Given the description of an element on the screen output the (x, y) to click on. 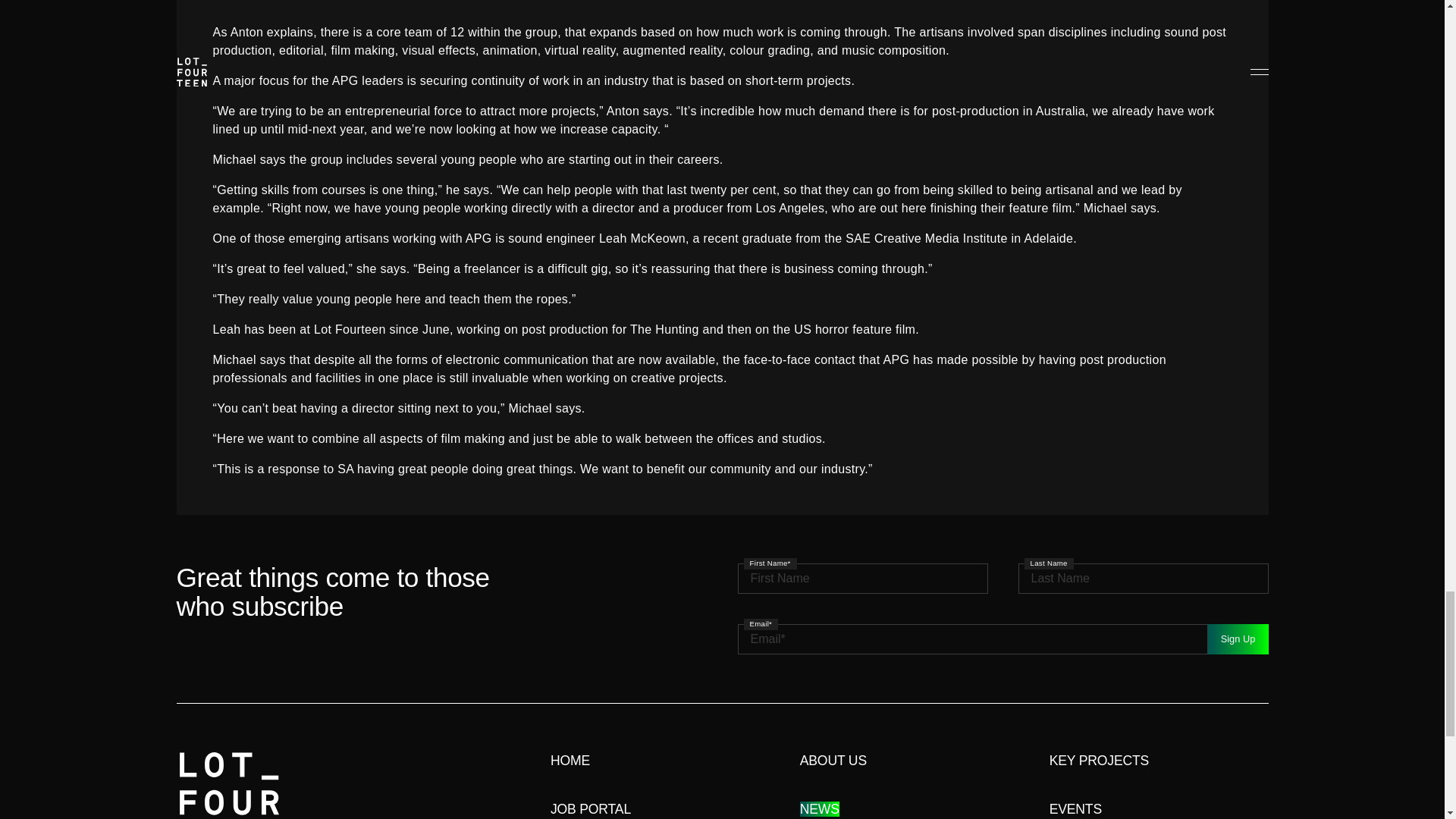
EVENTS (1075, 808)
NEWS (819, 808)
KEY PROJECTS (1099, 760)
ABOUT US (832, 760)
HOME (569, 760)
JOB PORTAL (590, 808)
Sign Up (1237, 639)
